Given the description of an element on the screen output the (x, y) to click on. 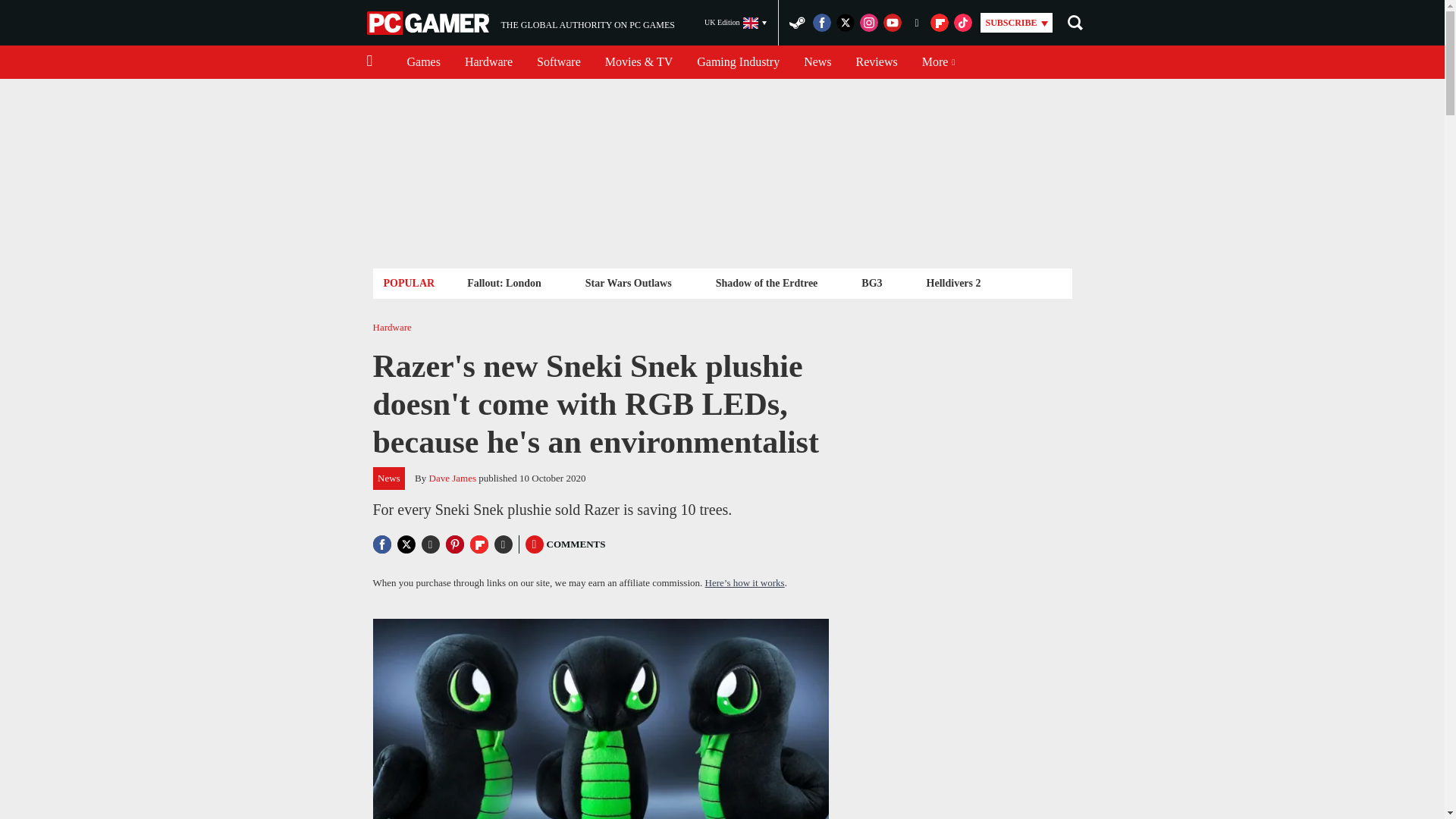
Gaming Industry (738, 61)
Hardware (488, 61)
News (817, 61)
Software (558, 61)
UK Edition (735, 22)
Star Wars Outlaws (520, 22)
Fallout: London (628, 282)
Games (504, 282)
Reviews (422, 61)
